Given the description of an element on the screen output the (x, y) to click on. 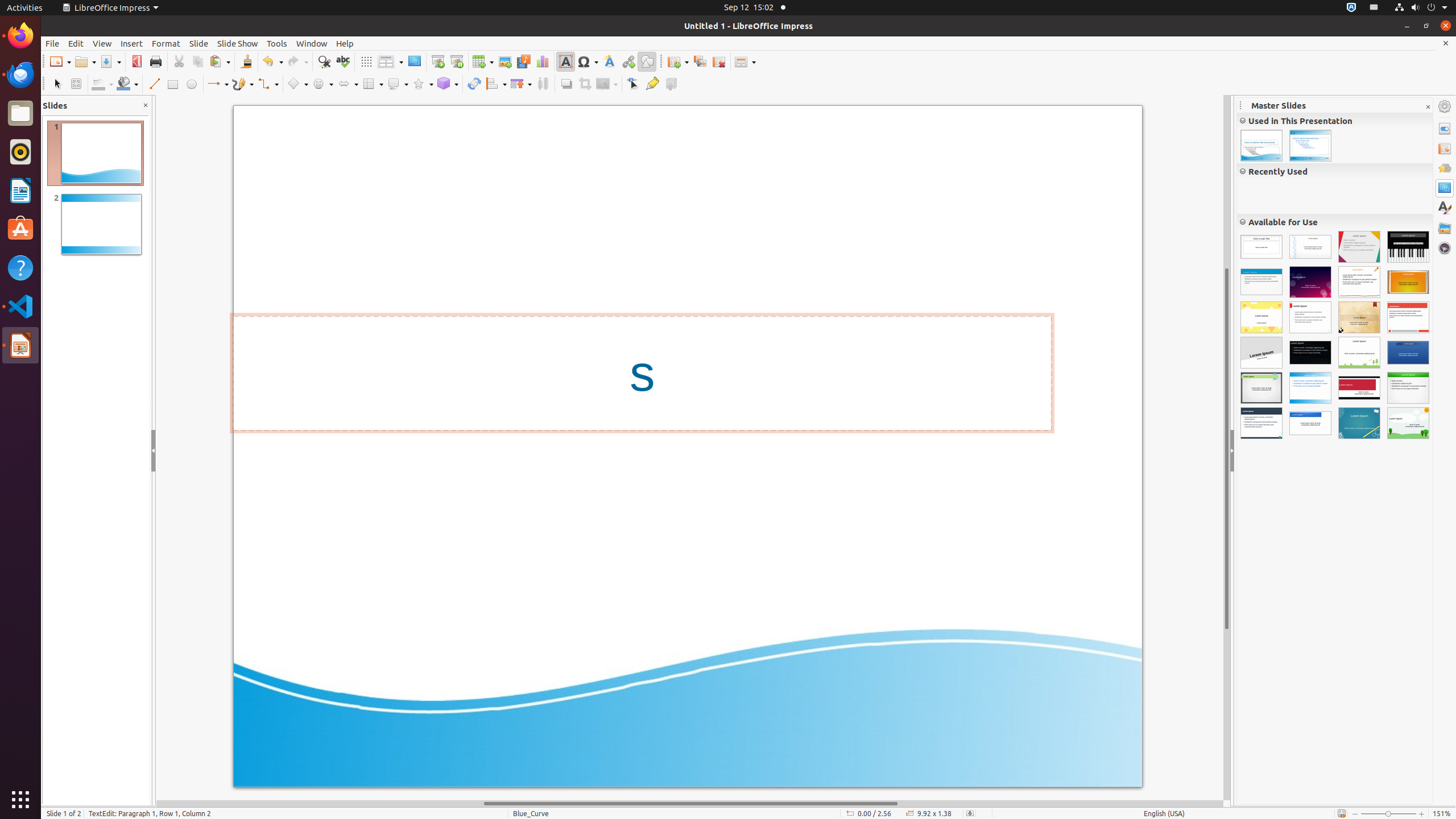
Line Element type: push-button (153, 83)
Rhythmbox Element type: push-button (20, 151)
Undo Element type: push-button (271, 61)
Fill Color Element type: push-button (126, 83)
